Given the description of an element on the screen output the (x, y) to click on. 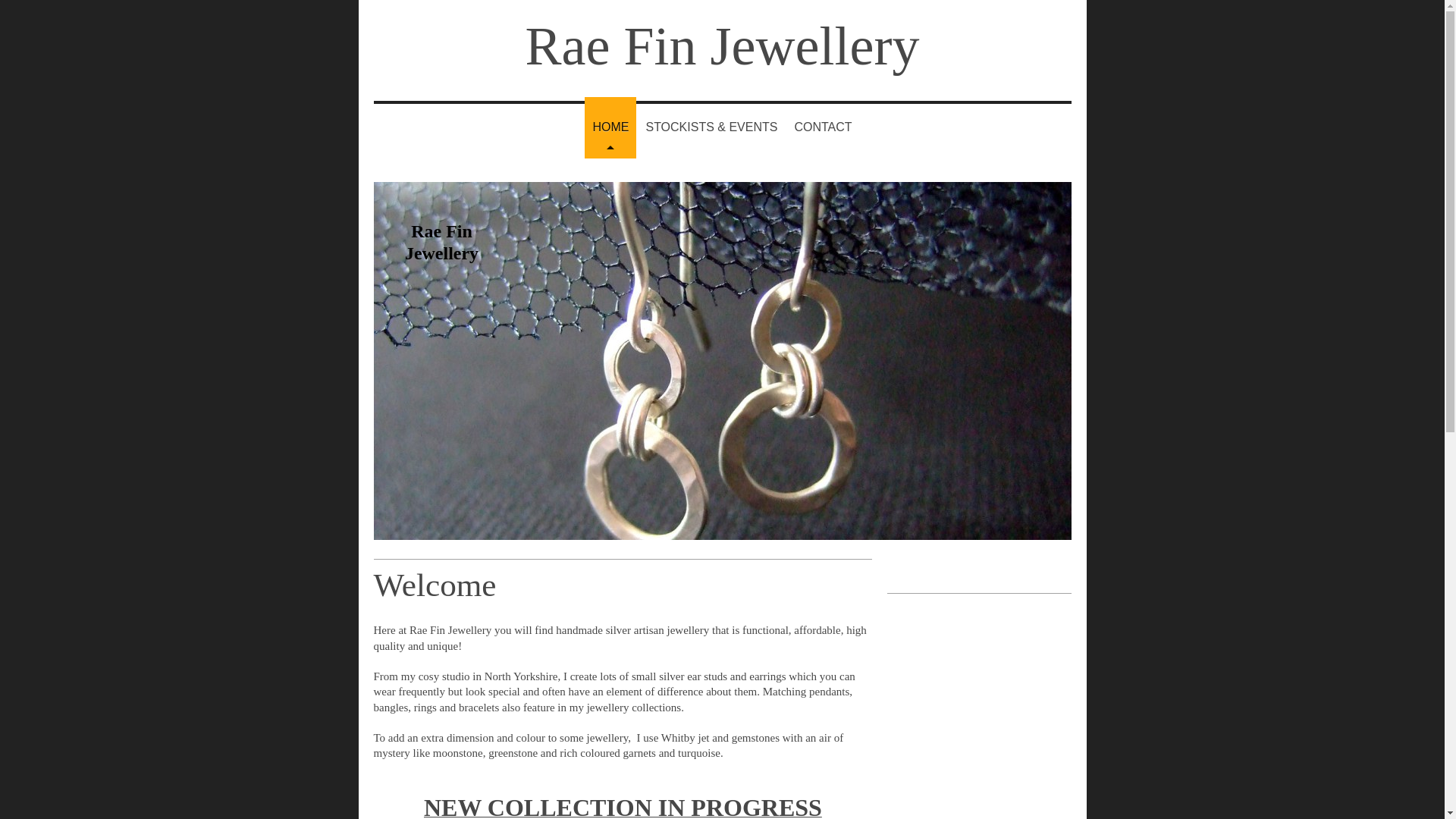
Rae FinJewellery (441, 241)
Rae Fin Jewellery (722, 45)
CONTACT (822, 127)
